Given the description of an element on the screen output the (x, y) to click on. 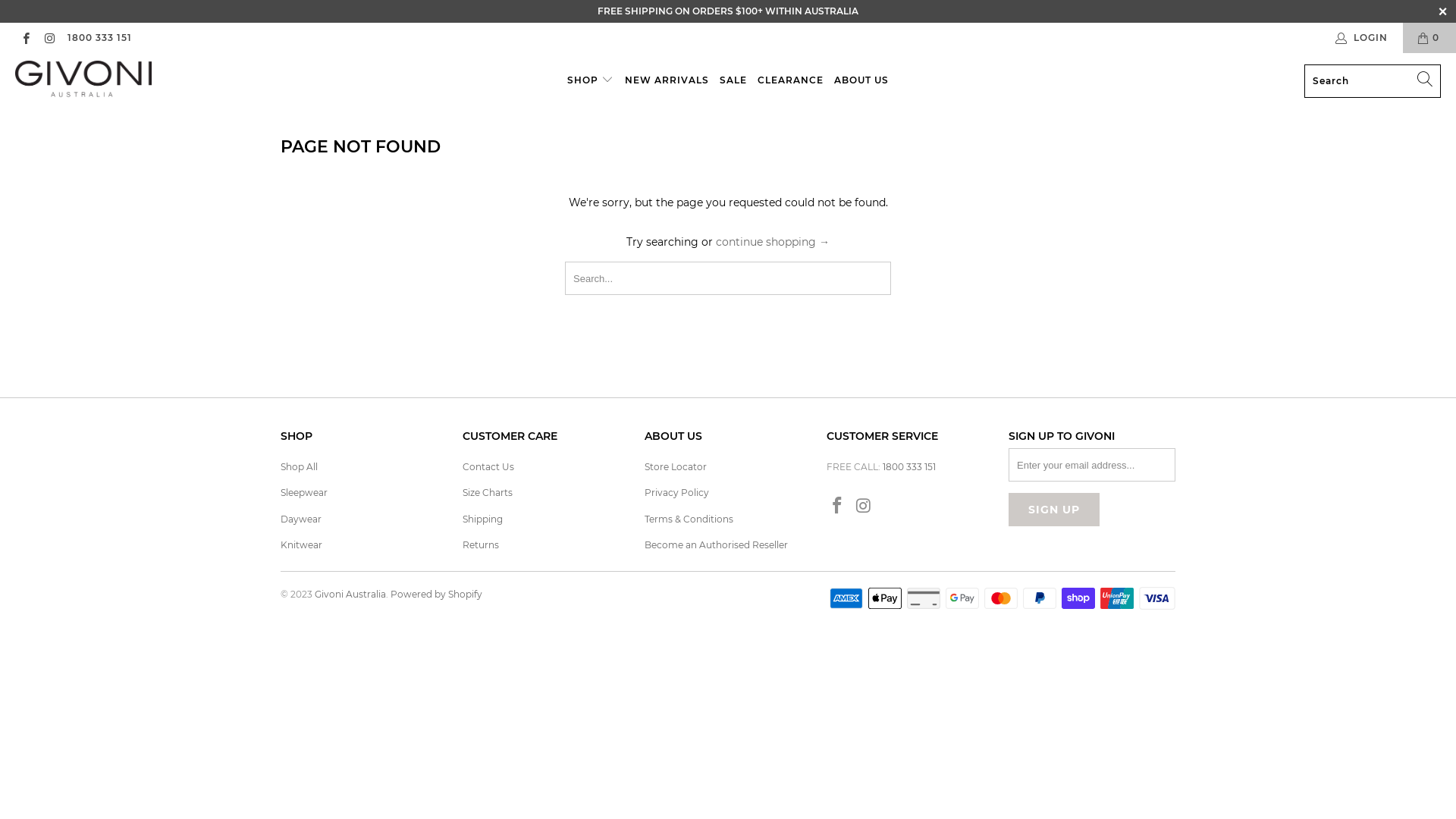
Givoni Australia Element type: text (349, 593)
Knitwear Element type: text (301, 544)
Returns Element type: text (480, 544)
Daywear Element type: text (300, 518)
Store Locator Element type: text (675, 466)
1800 333 151 Element type: text (908, 466)
Givoni Australia on Instagram Element type: hover (48, 37)
Shipping Element type: text (482, 518)
CLEARANCE Element type: text (790, 80)
Terms & Conditions Element type: text (688, 518)
Sleepwear Element type: text (303, 492)
1800 333 151 Element type: text (98, 37)
Become an Authorised Reseller Element type: text (715, 544)
Givoni Australia on Facebook Element type: hover (24, 37)
Shop All Element type: text (298, 466)
Powered by Shopify Element type: text (436, 593)
ABOUT US Element type: text (861, 80)
LOGIN Element type: text (1362, 37)
SHOP Element type: text (590, 80)
Contact Us Element type: text (488, 466)
Givoni Australia on Instagram Element type: hover (864, 506)
NEW ARRIVALS Element type: text (666, 80)
Sign Up Element type: text (1053, 509)
Givoni Australia on Facebook Element type: hover (837, 506)
Size Charts Element type: text (487, 492)
SALE Element type: text (732, 80)
Privacy Policy Element type: text (676, 492)
Givoni Australia Element type: hover (83, 80)
